Given the description of an element on the screen output the (x, y) to click on. 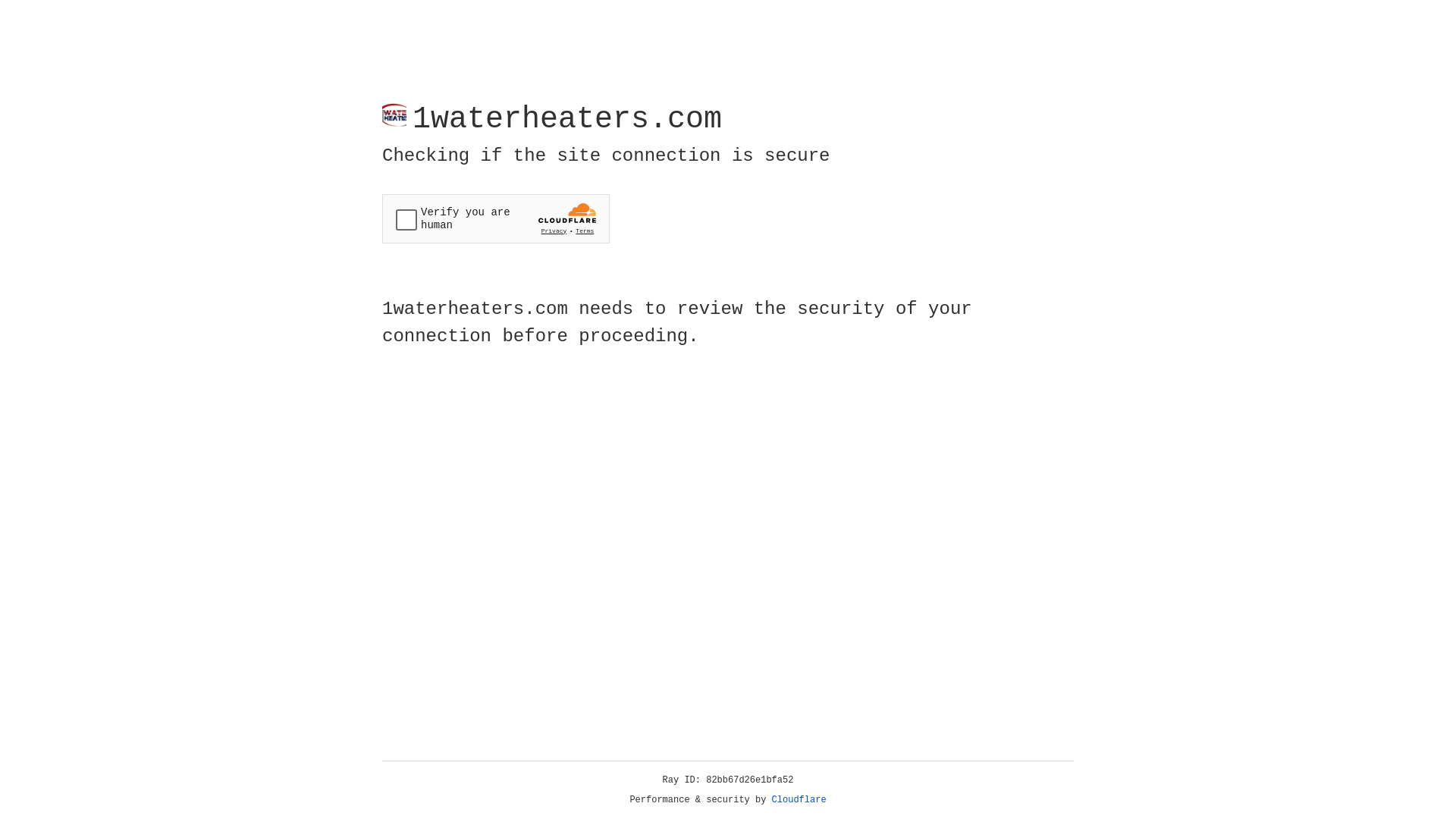
Cloudflare Element type: text (798, 799)
Widget containing a Cloudflare security challenge Element type: hover (495, 218)
